Given the description of an element on the screen output the (x, y) to click on. 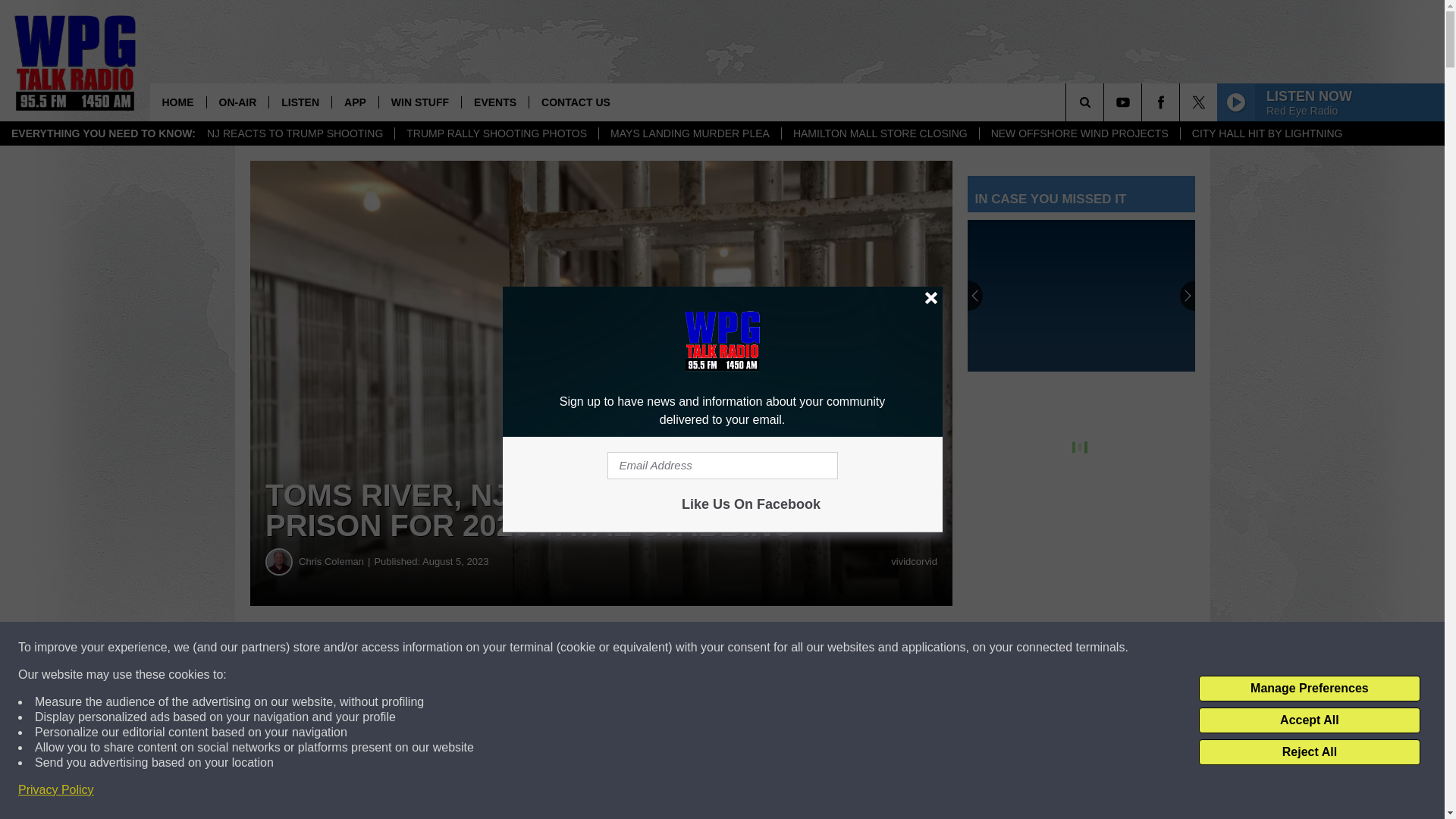
MAYS LANDING MURDER PLEA (689, 133)
Manage Preferences (1309, 688)
SEARCH (1106, 102)
Email Address (722, 465)
ON-AIR (237, 102)
Share on Twitter (741, 647)
TRUMP RALLY SHOOTING PHOTOS (496, 133)
Share on Facebook (460, 647)
NEW OFFSHORE WIND PROJECTS (1078, 133)
HAMILTON MALL STORE CLOSING (879, 133)
Accept All (1309, 720)
SEARCH (1106, 102)
APP (354, 102)
WIN STUFF (419, 102)
HOME (177, 102)
